Given the description of an element on the screen output the (x, y) to click on. 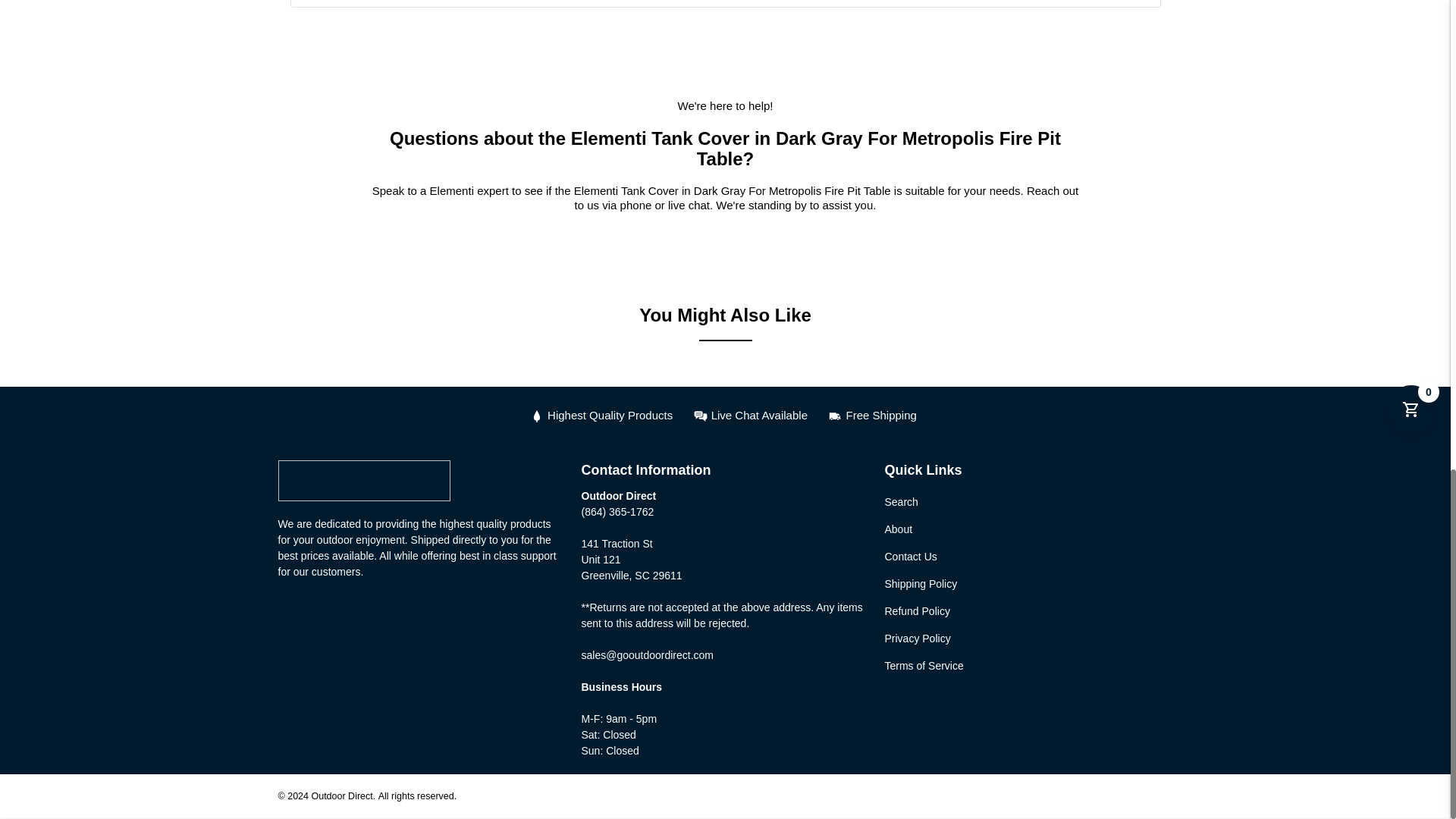
Outdoor Direct (363, 488)
